Given the description of an element on the screen output the (x, y) to click on. 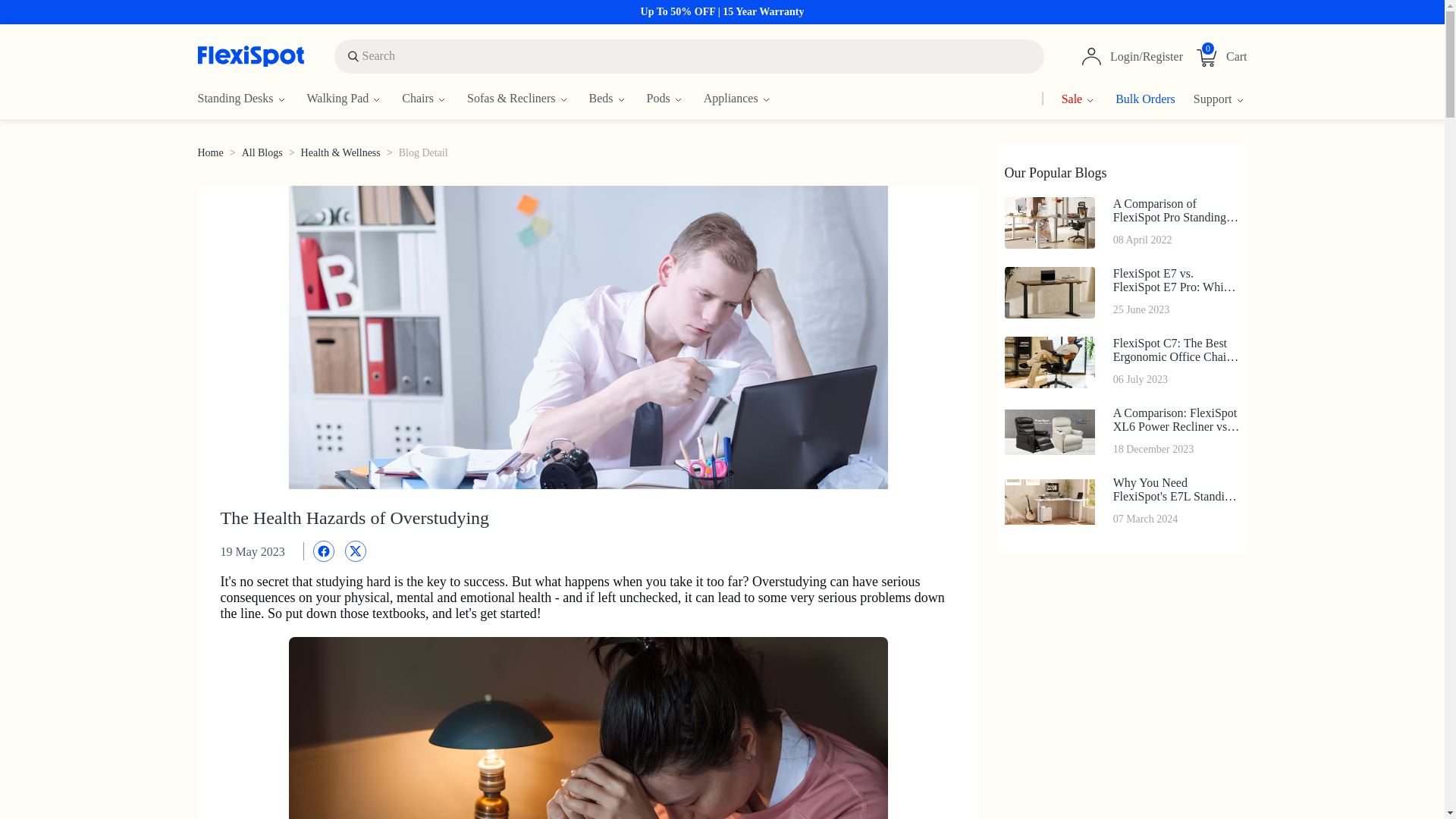
Walking Pad (353, 98)
Beds (617, 98)
Appliances (747, 98)
All Blogs (261, 152)
Standing Desks (250, 98)
Pods (674, 98)
Bulk Orders (1135, 98)
